Given the description of an element on the screen output the (x, y) to click on. 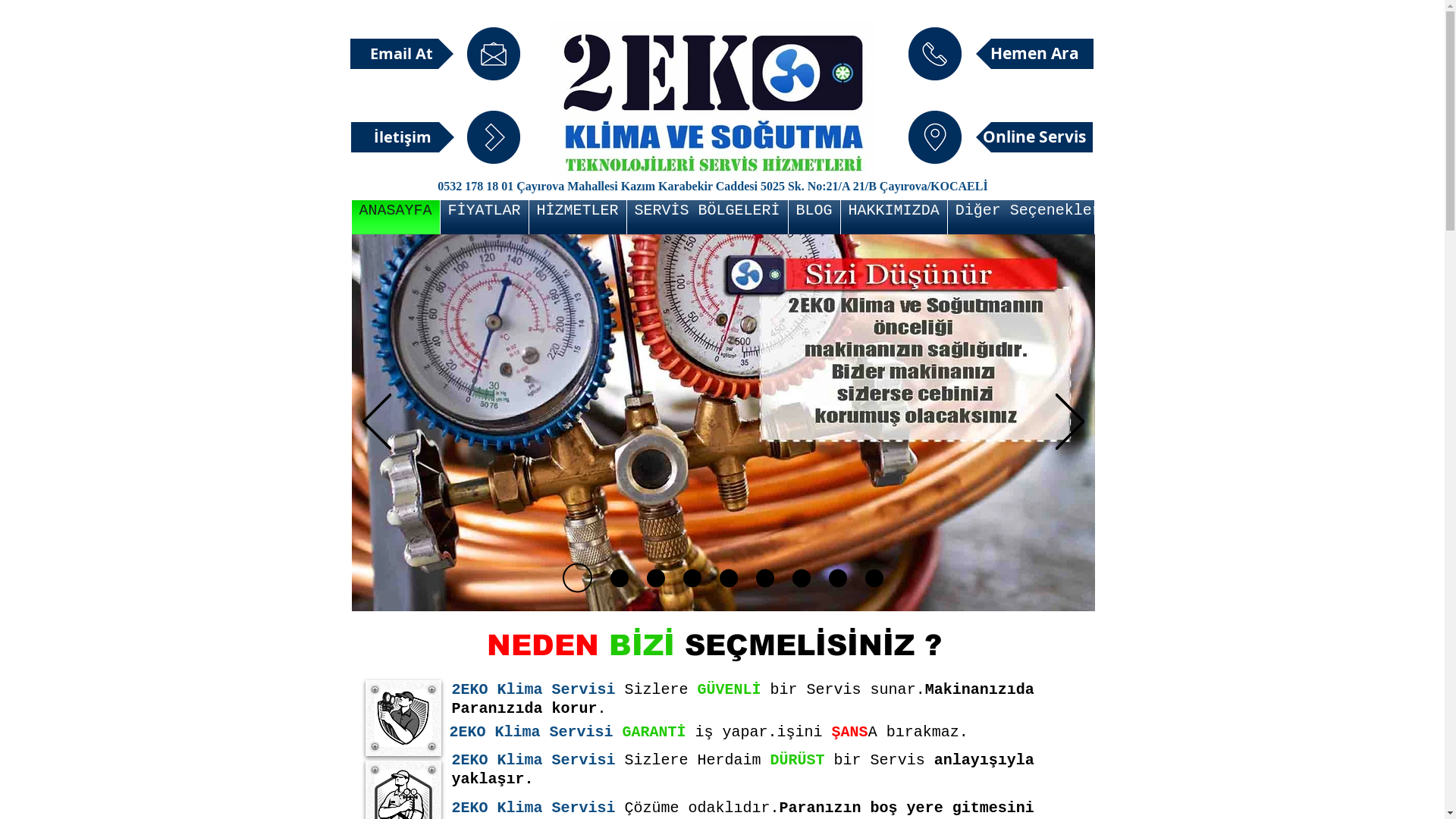
Hemen Ara Element type: text (1033, 53)
Online Servis Element type: text (1033, 137)
BLOG Element type: text (814, 217)
HAKKIMIZDA Element type: text (893, 217)
Email At Element type: text (401, 53)
ANASAYFA Element type: text (395, 217)
